Given the description of an element on the screen output the (x, y) to click on. 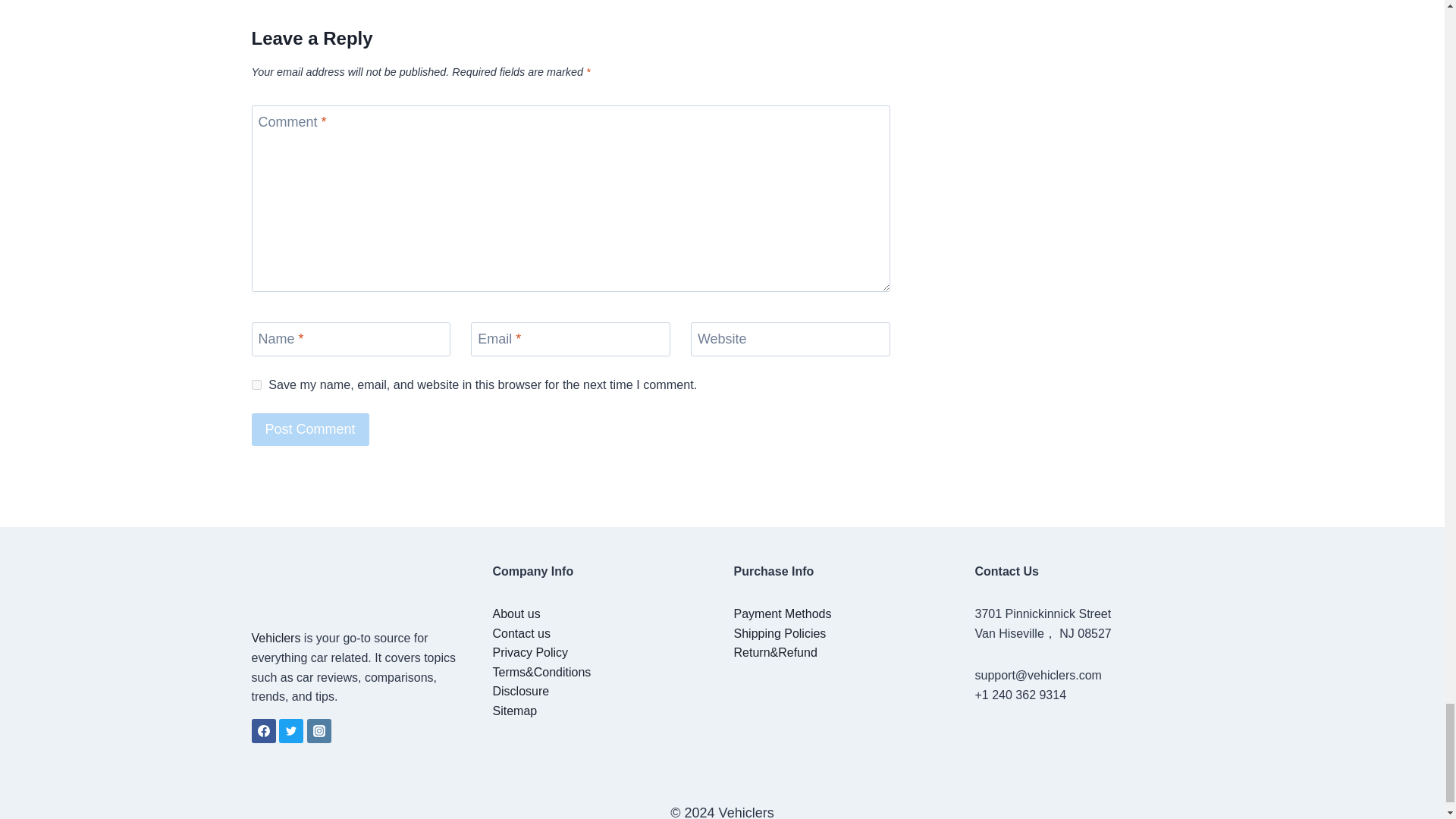
yes (256, 384)
Post Comment (310, 429)
